Given the description of an element on the screen output the (x, y) to click on. 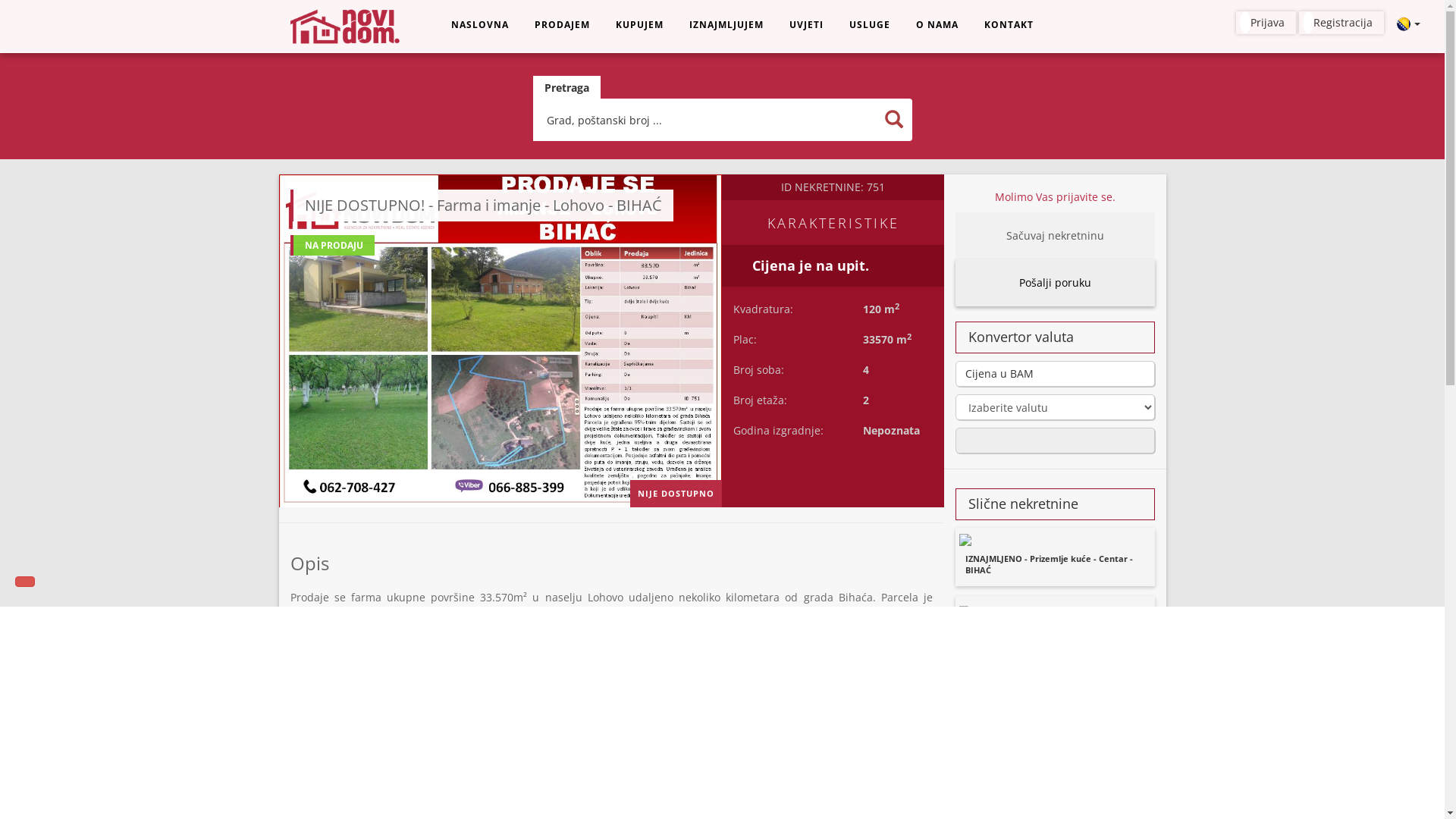
PRODAJEM Element type: text (561, 24)
O NAMA Element type: text (936, 24)
Registracija Element type: text (1341, 22)
USLUGE Element type: text (868, 24)
KUPUJEM Element type: text (638, 24)
Prijava Element type: text (1265, 22)
+ Element type: text (306, 790)
NASLOVNA Element type: text (479, 24)
IZNAJMLJUJEM Element type: text (726, 24)
KONTAKT Element type: text (1007, 24)
UVJETI Element type: text (806, 24)
